Given the description of an element on the screen output the (x, y) to click on. 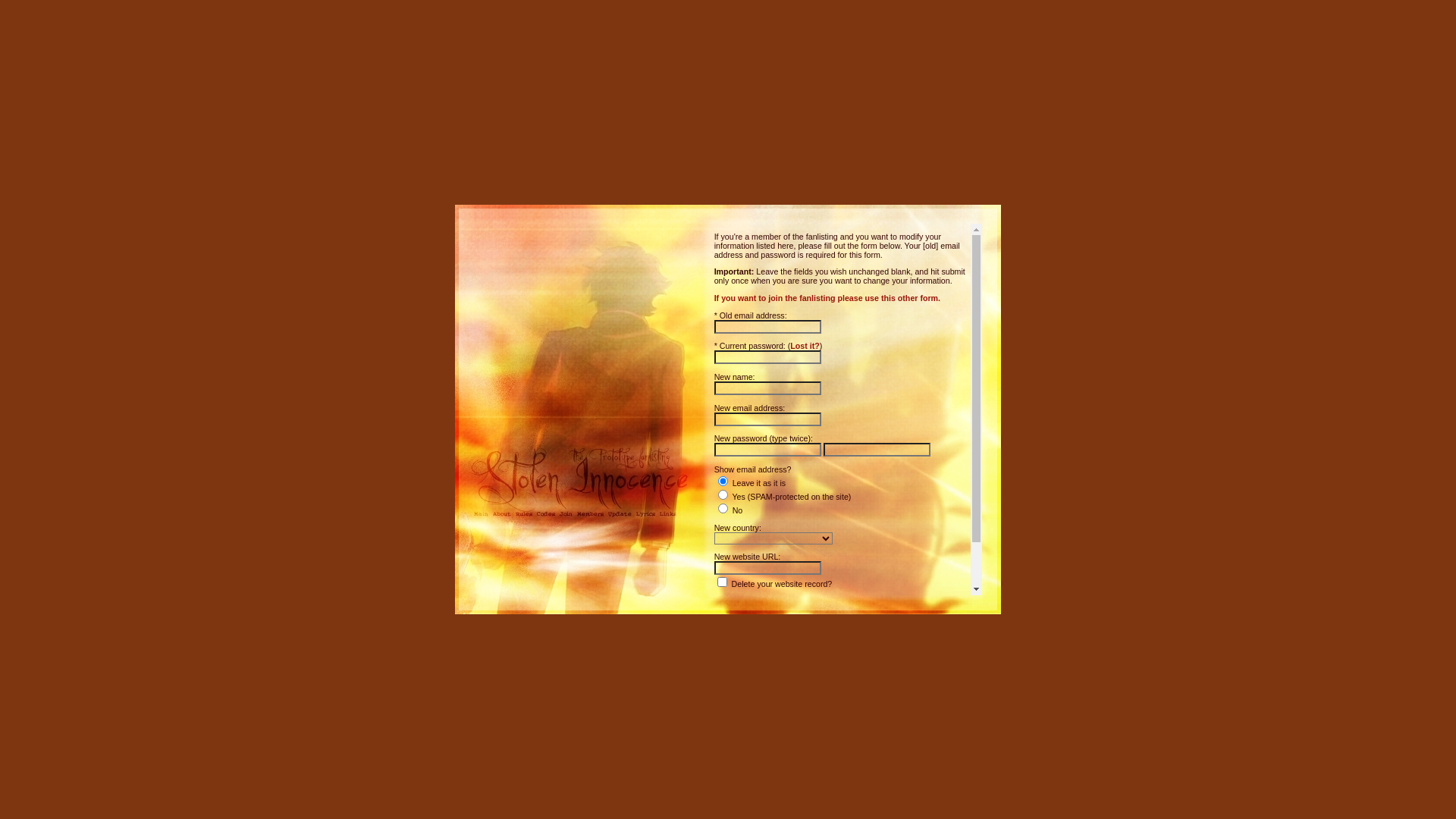
Angela Sabas Element type: text (851, 632)
Modify my information Element type: text (759, 604)
Lost it? Element type: text (804, 345)
Enthusiast [Robotess Fork] v. 1.0.6 (Beta) Element type: text (846, 623)
